Given the description of an element on the screen output the (x, y) to click on. 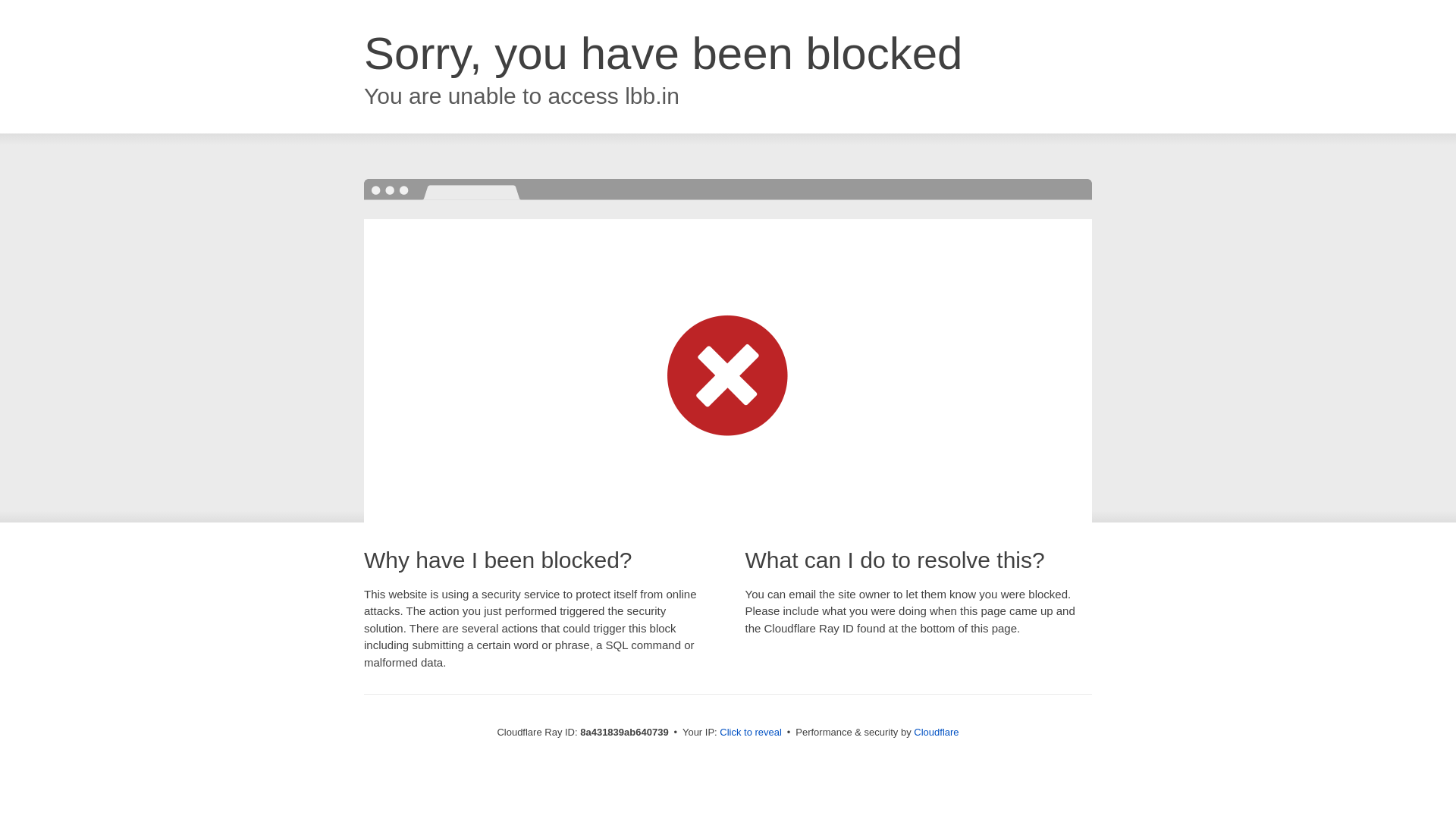
Click to reveal (750, 732)
Cloudflare (936, 731)
